Given the description of an element on the screen output the (x, y) to click on. 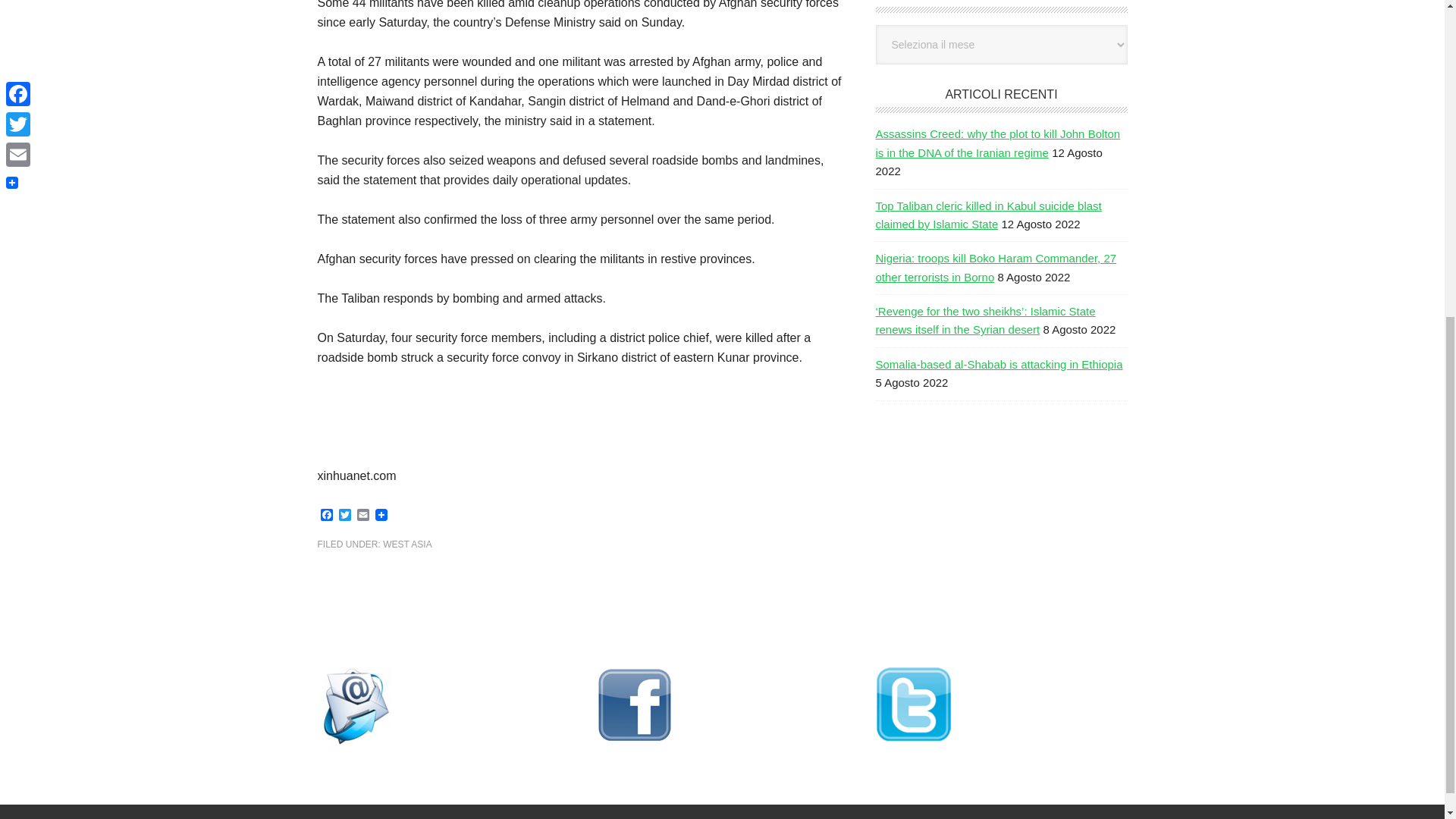
Email (362, 515)
Facebook (325, 515)
Somalia-based al-Shabab is attacking in Ethiopia (998, 364)
WEST ASIA (406, 543)
Facebook (325, 515)
Twitter (343, 515)
Email (362, 515)
Twitter (343, 515)
